Given the description of an element on the screen output the (x, y) to click on. 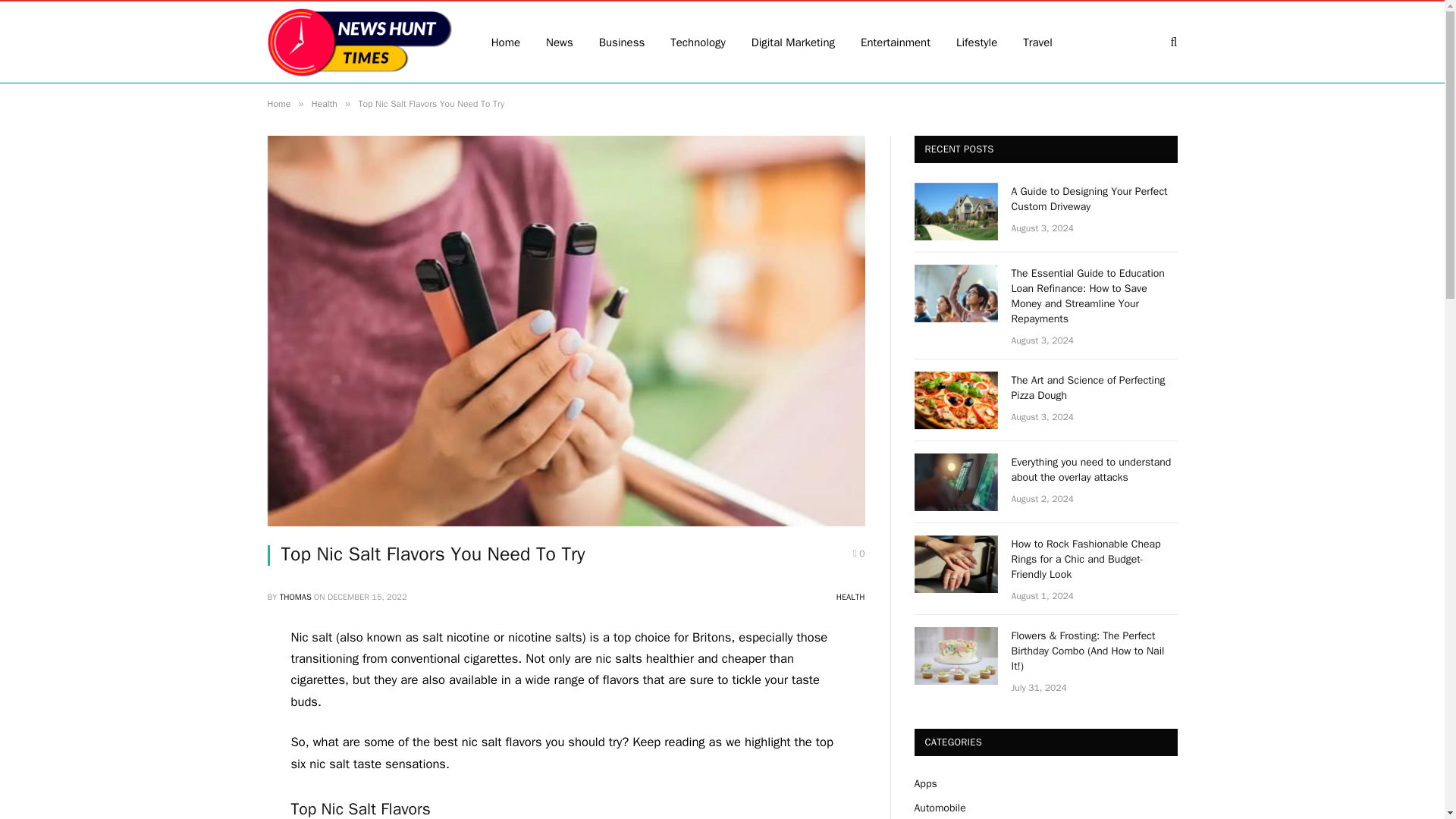
Health (324, 103)
The Art and Science of Perfecting Pizza Dough (1094, 388)
Digital Marketing (792, 41)
Entertainment (895, 41)
2022-12-15 (367, 596)
The Art and Science of Perfecting Pizza Dough (955, 400)
